Given the description of an element on the screen output the (x, y) to click on. 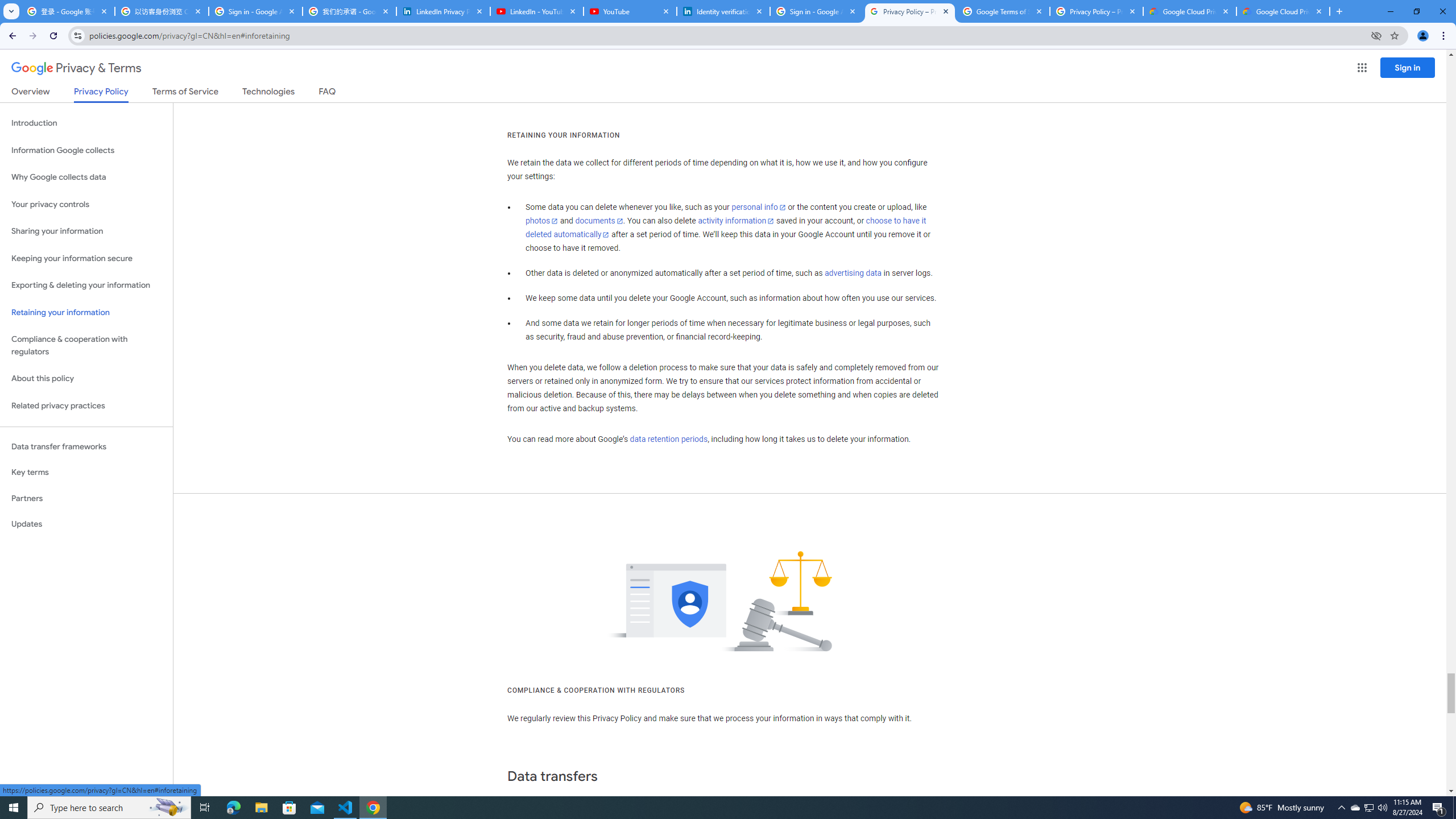
Keeping your information secure (86, 258)
advertising data (852, 273)
Related privacy practices (86, 405)
LinkedIn Privacy Policy (443, 11)
Sign in - Google Accounts (815, 11)
Sign in - Google Accounts (255, 11)
Information Google collects (86, 150)
